Given the description of an element on the screen output the (x, y) to click on. 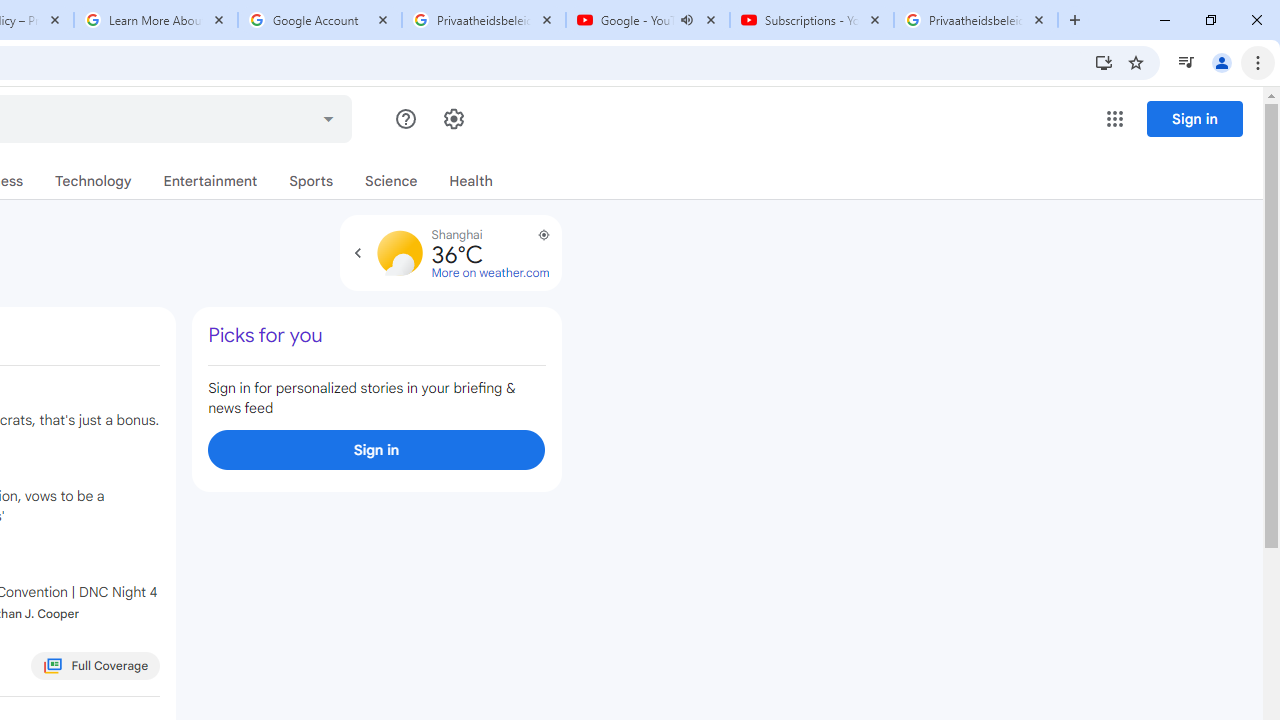
Entertainment (210, 181)
More on weather.com (490, 273)
Install Google News (1103, 62)
